Given the description of an element on the screen output the (x, y) to click on. 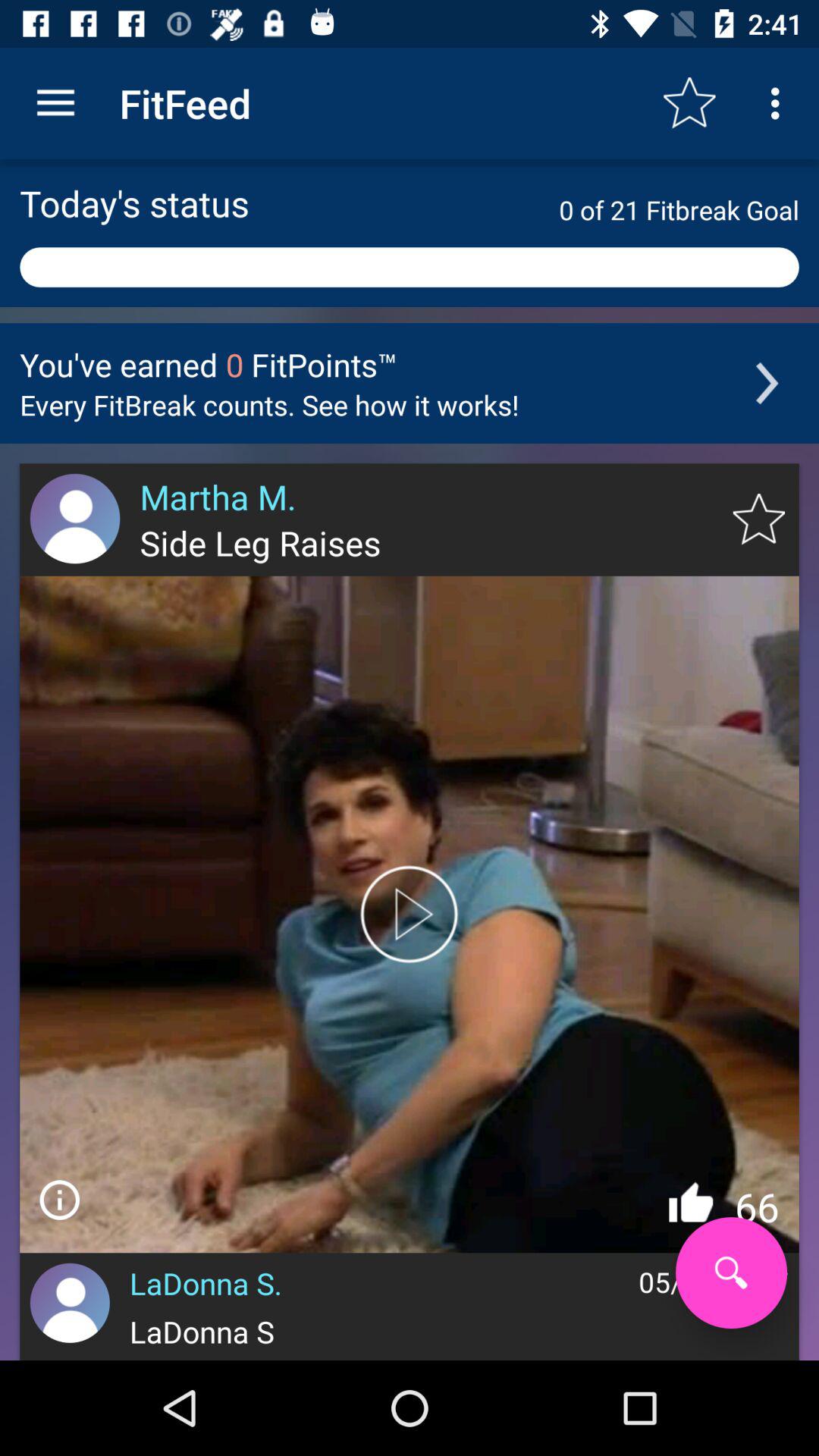
search (731, 1272)
